Given the description of an element on the screen output the (x, y) to click on. 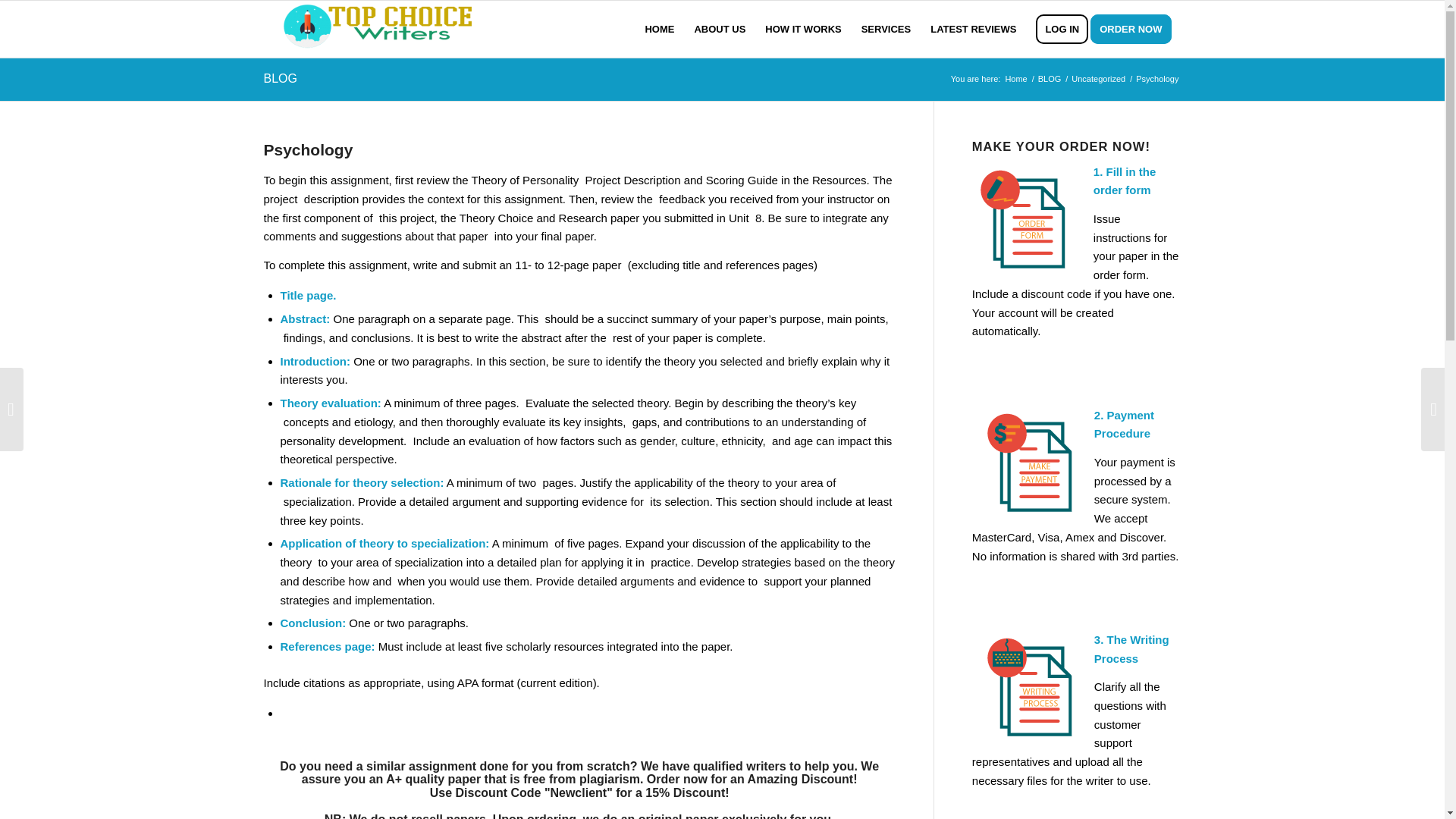
Permanent Link: Psychology (308, 149)
LATEST REVIEWS (973, 28)
HOW IT WORKS (802, 28)
BLOG (1049, 79)
Psychology (308, 149)
ORDER NOW (1135, 28)
Uncategorized (1097, 79)
ABOUT US (719, 28)
Permanent Link: BLOG (280, 78)
BLOG (1049, 79)
BLOG (280, 78)
topchoicewriters.com (1016, 79)
LOG IN (1061, 28)
Home (1016, 79)
SERVICES (886, 28)
